Given the description of an element on the screen output the (x, y) to click on. 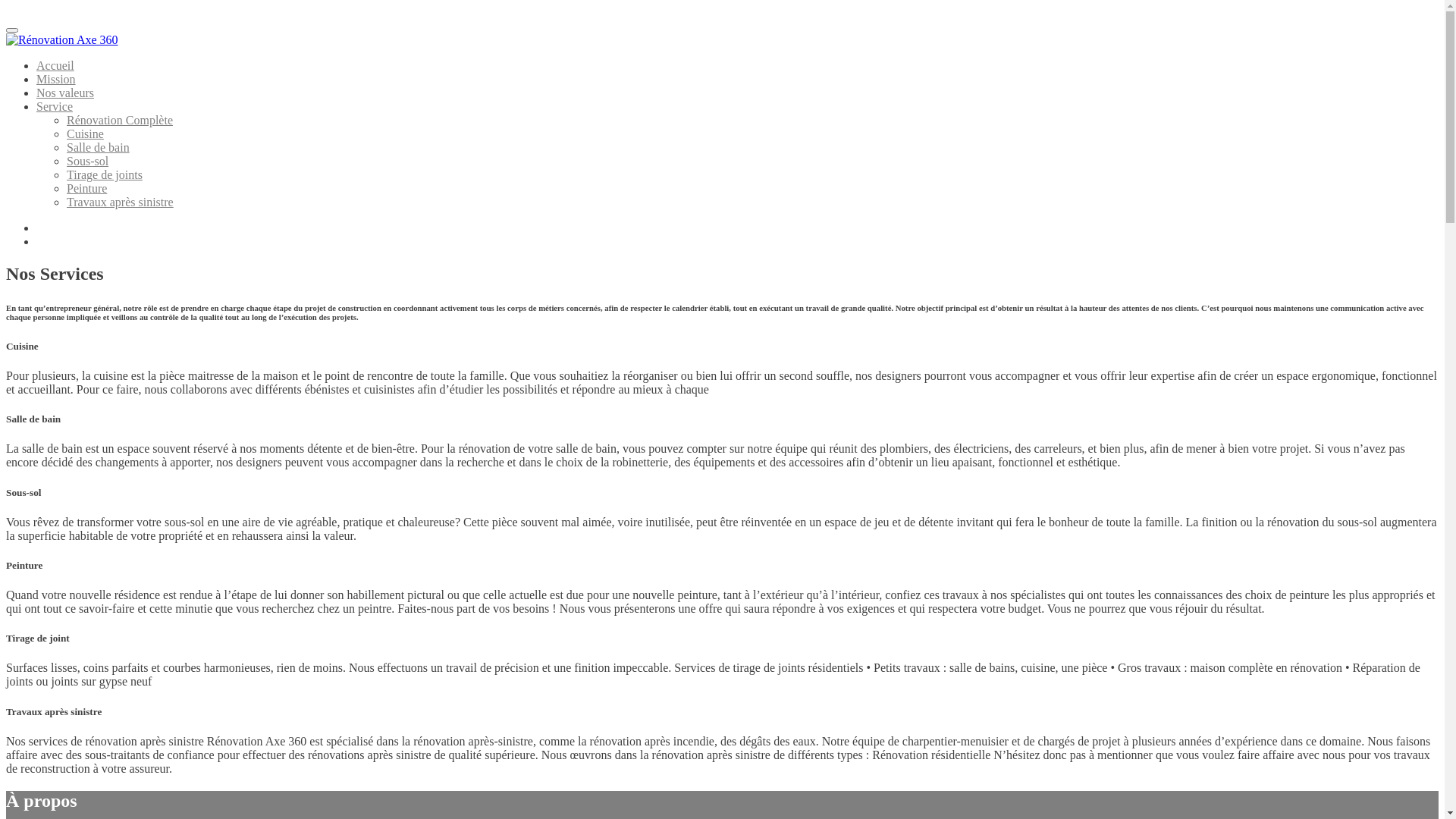
Cuisine Element type: text (84, 133)
Nos valeurs Element type: text (65, 92)
Service Element type: text (54, 106)
Mission Element type: text (55, 78)
Salle de bain Element type: text (97, 147)
Sous-sol Element type: text (87, 160)
Tirage de joints Element type: text (104, 174)
Peinture Element type: text (86, 188)
Accueil Element type: text (55, 65)
Menu Element type: text (12, 30)
